Given the description of an element on the screen output the (x, y) to click on. 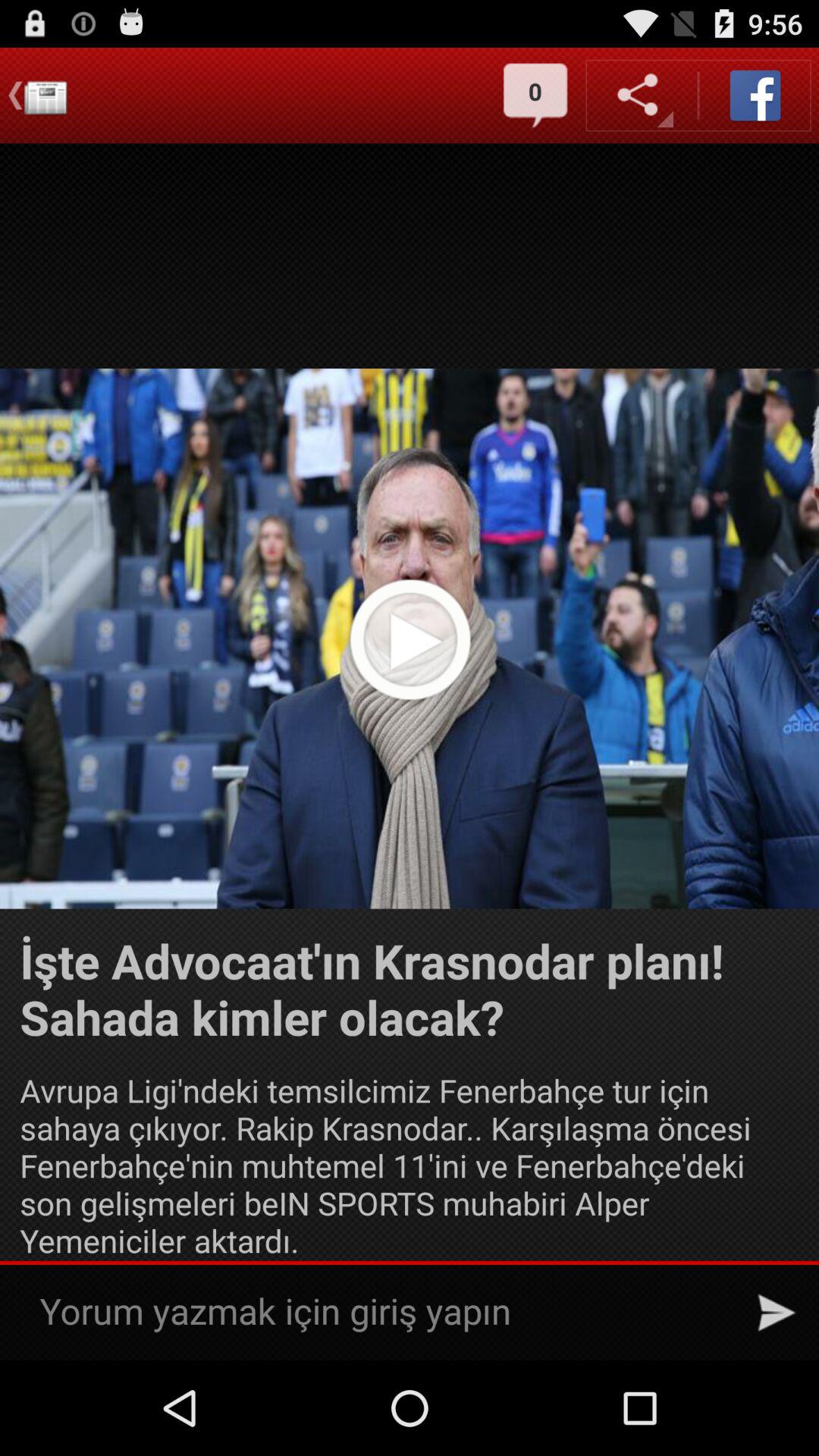
tap the item at the bottom right corner (776, 1312)
